Given the description of an element on the screen output the (x, y) to click on. 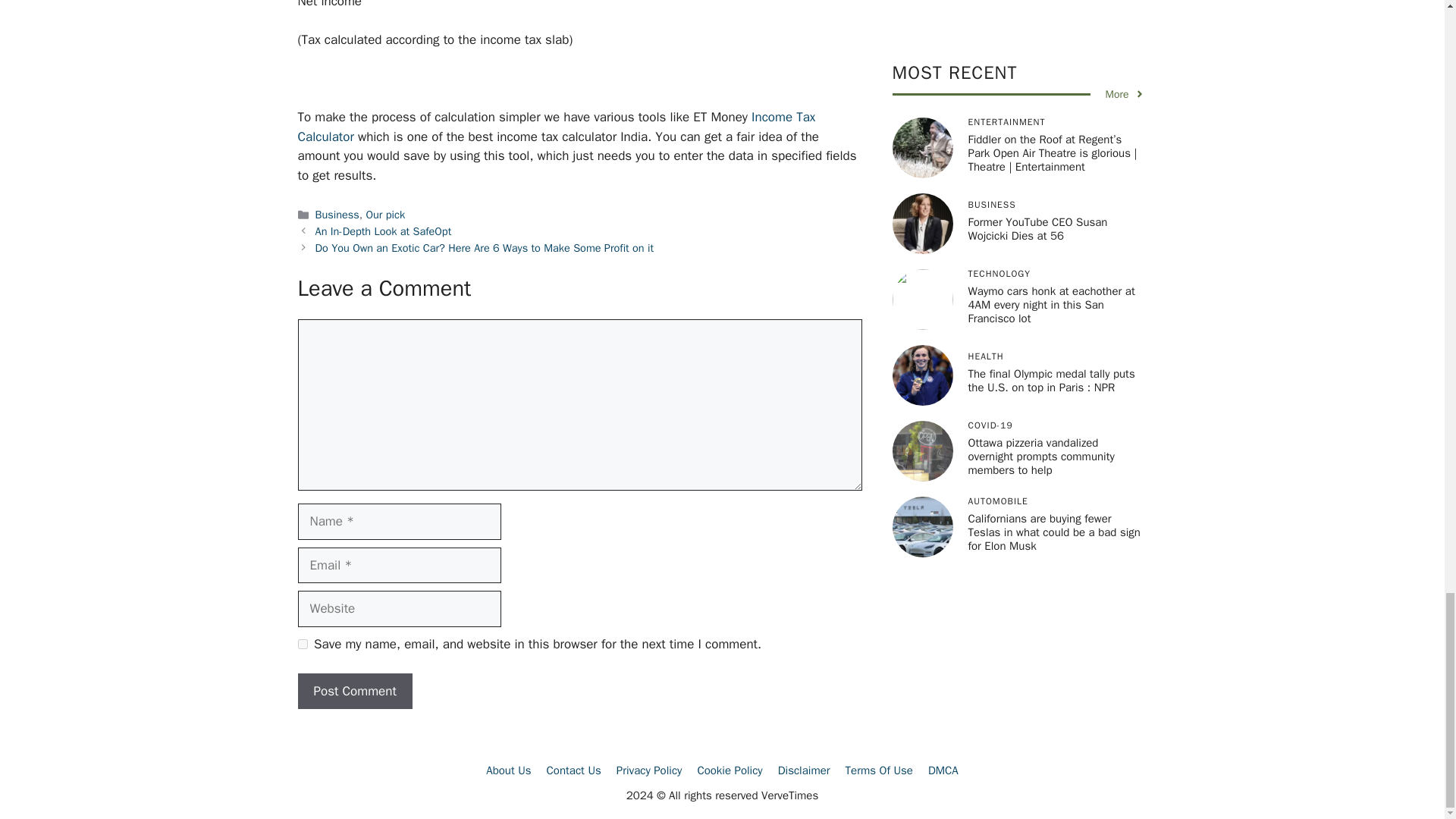
yes (302, 644)
Post Comment (354, 691)
Post Comment (354, 691)
An In-Depth Look at SafeOpt (383, 231)
Business (337, 214)
Our pick (386, 214)
Income Tax Calculator (556, 126)
